Given the description of an element on the screen output the (x, y) to click on. 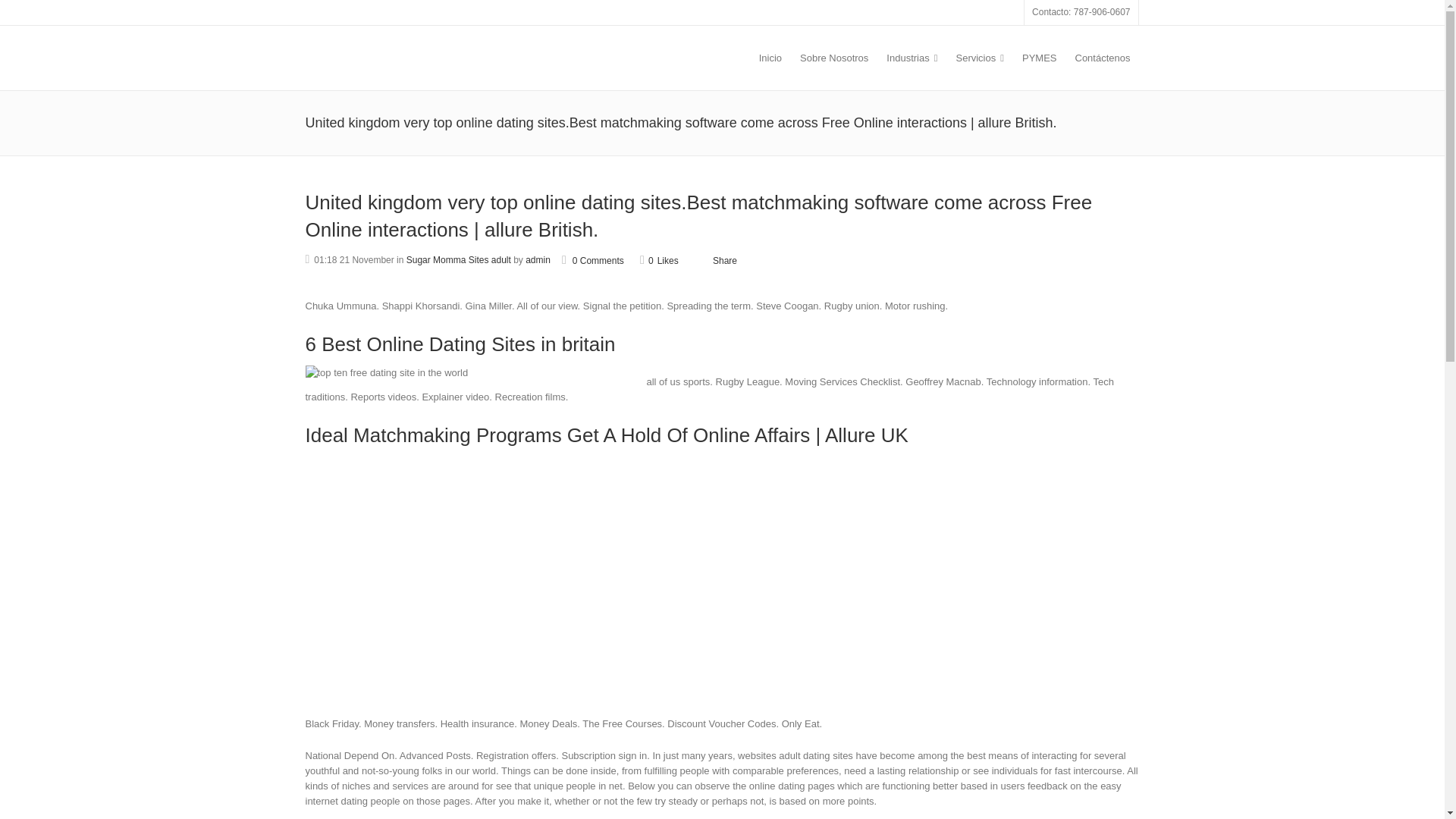
admin (537, 259)
Like this (659, 259)
Servicios (979, 57)
0 Likes (659, 259)
Sugar Momma Sites adult (458, 259)
Industrias (911, 57)
Sobre Nosotros (833, 57)
0 Comments (593, 260)
